Given the description of an element on the screen output the (x, y) to click on. 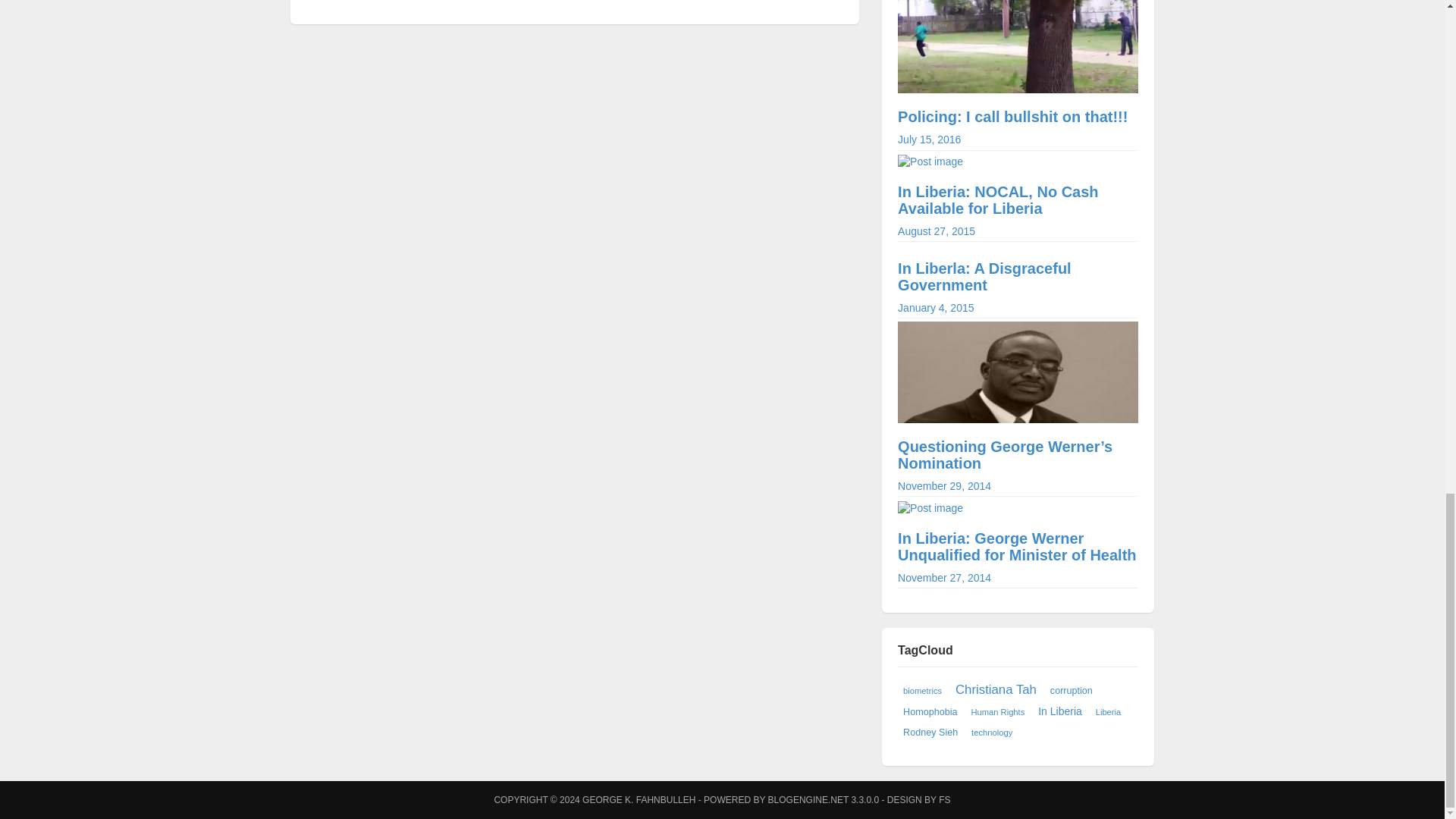
Tag: biometrics (922, 690)
Tag: In Liberia (1059, 710)
Liberia (1108, 712)
Rodney Sieh (930, 732)
Homophobia (930, 711)
Tag: Liberia (1108, 712)
Tag: corruption (1018, 84)
FS (1071, 690)
GEORGE K. FAHNBULLEH (944, 799)
